Given the description of an element on the screen output the (x, y) to click on. 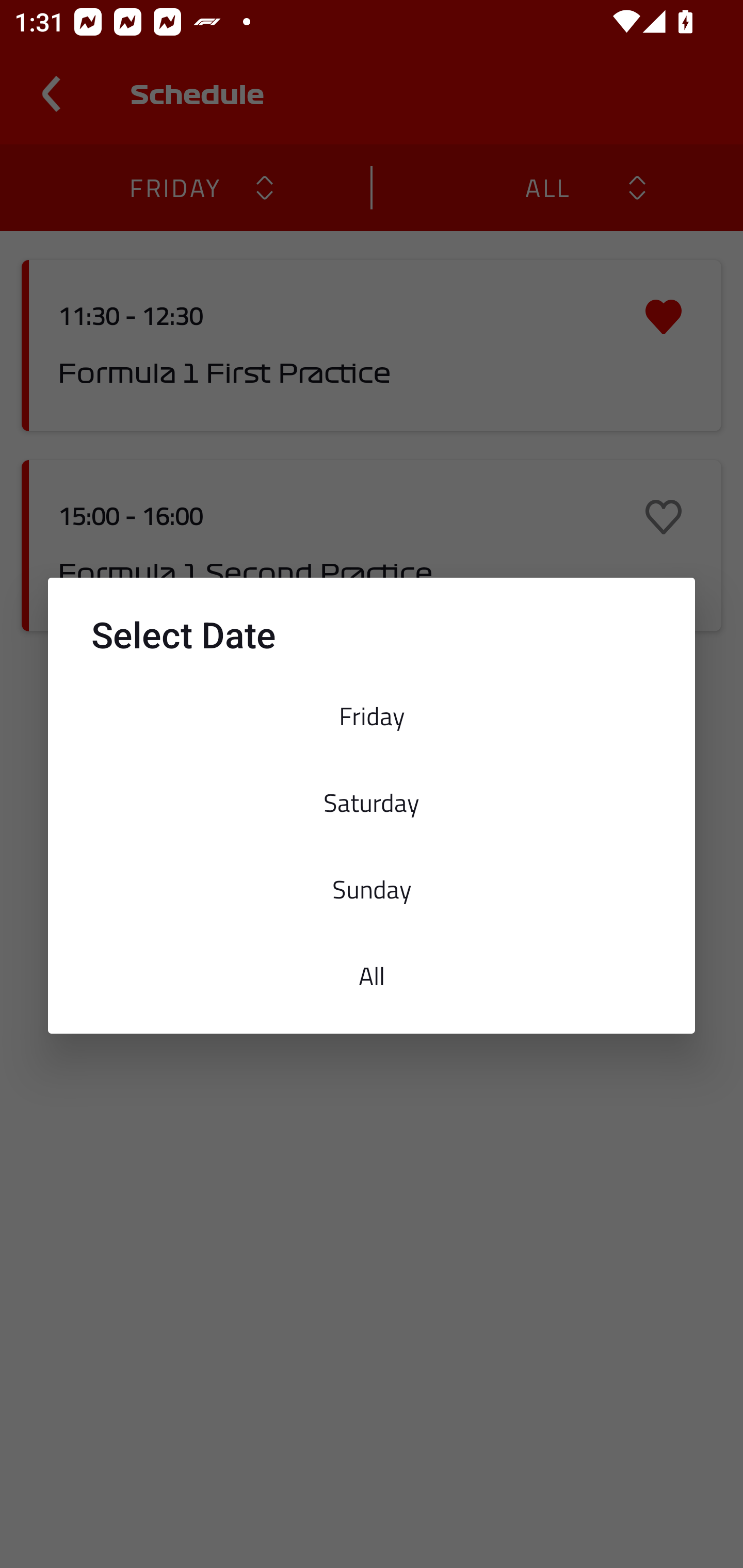
Friday (371, 715)
Saturday (371, 801)
Sunday (371, 888)
All (371, 975)
